Given the description of an element on the screen output the (x, y) to click on. 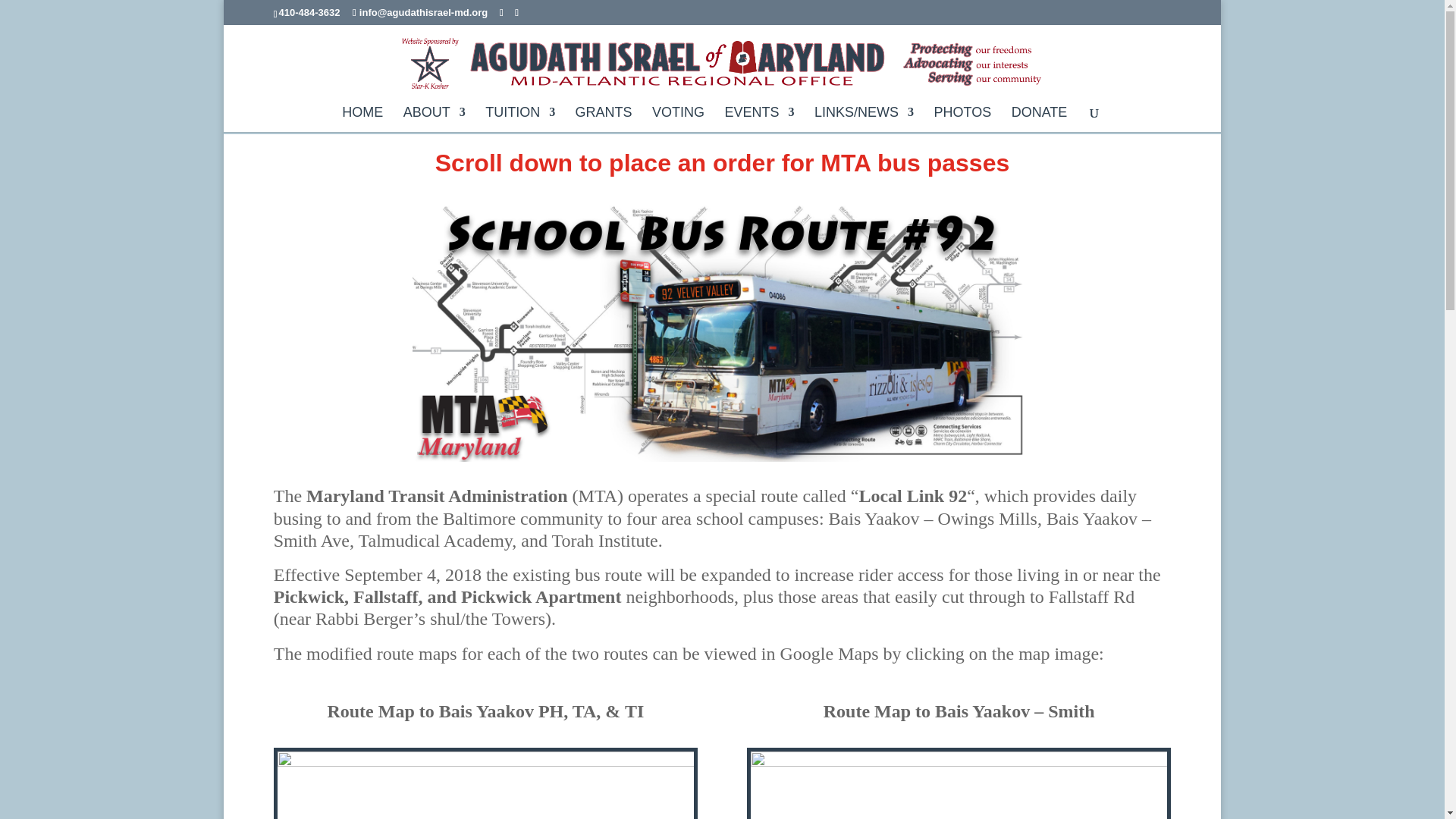
VOTING (678, 119)
ABOUT (434, 119)
GRANTS (603, 119)
HOME (362, 119)
PHOTOS (962, 119)
EVENTS (759, 119)
TUITION (519, 119)
DONATE (1039, 119)
